Given the description of an element on the screen output the (x, y) to click on. 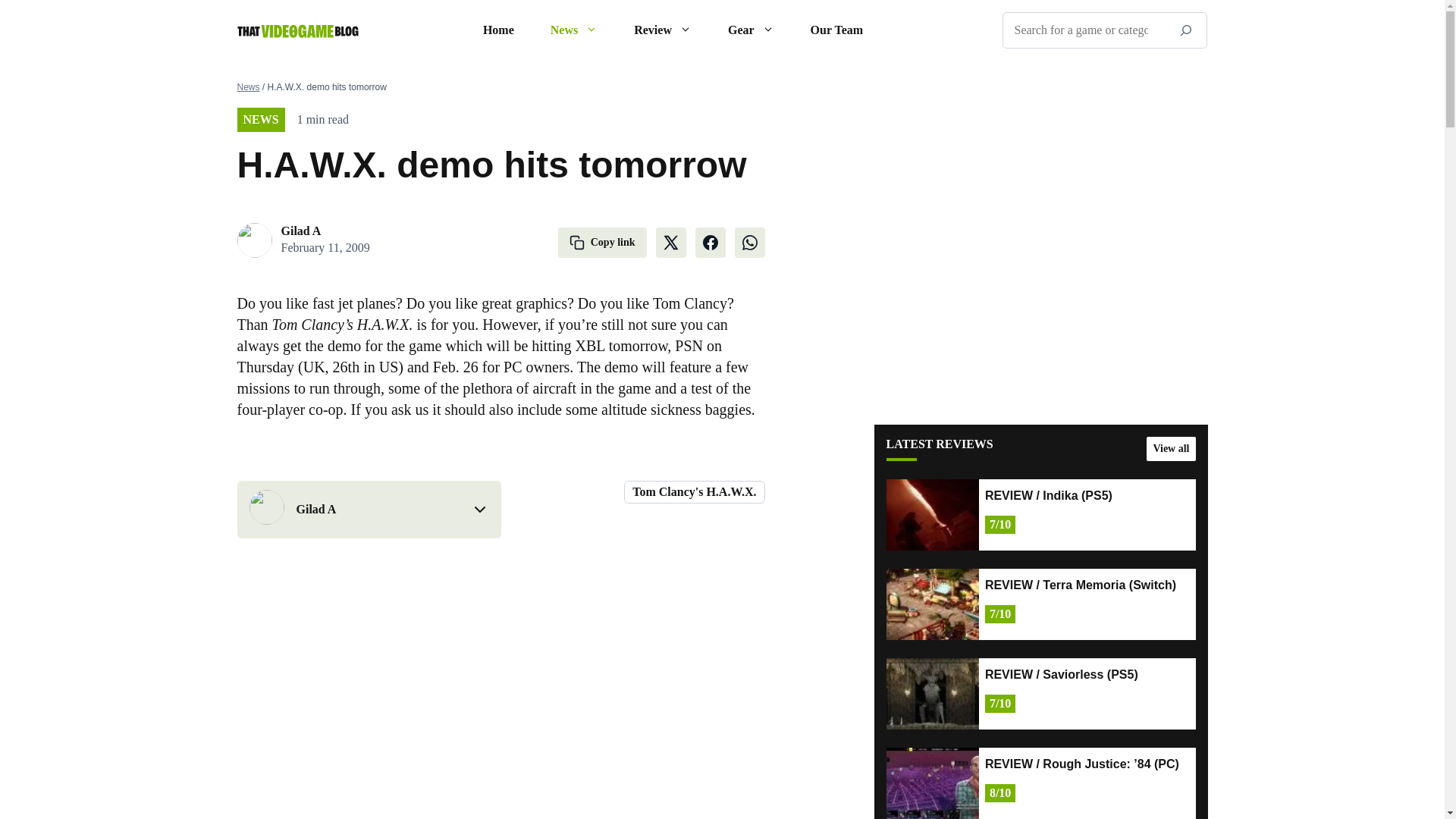
Review (662, 29)
Gear (751, 29)
Home (498, 29)
News (573, 29)
